Given the description of an element on the screen output the (x, y) to click on. 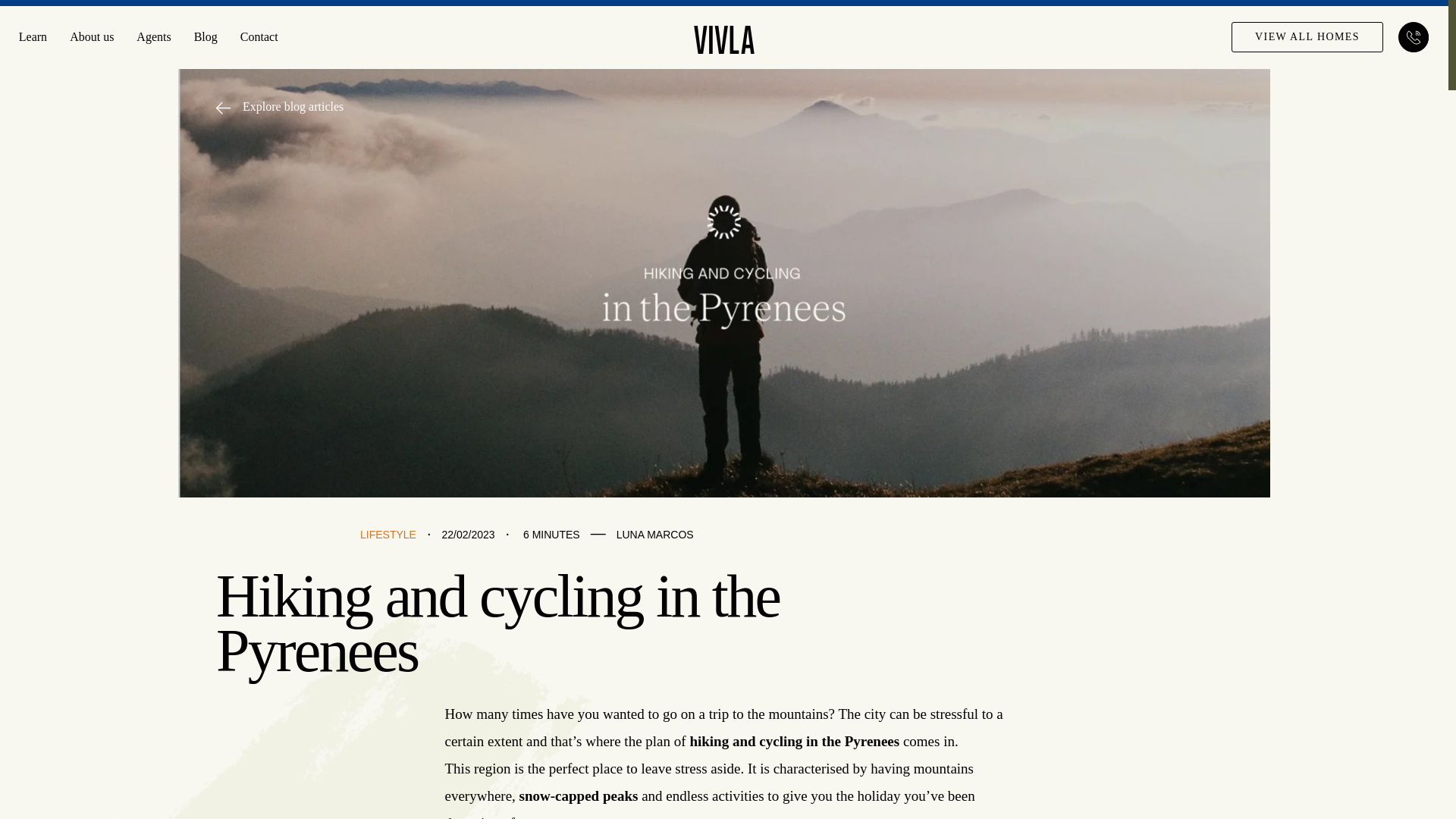
Contact (259, 36)
Blog (204, 36)
Learn (32, 36)
VIEW ALL HOMES (1307, 37)
About us (91, 36)
Agents (153, 36)
Explore blog articles (279, 106)
